Given the description of an element on the screen output the (x, y) to click on. 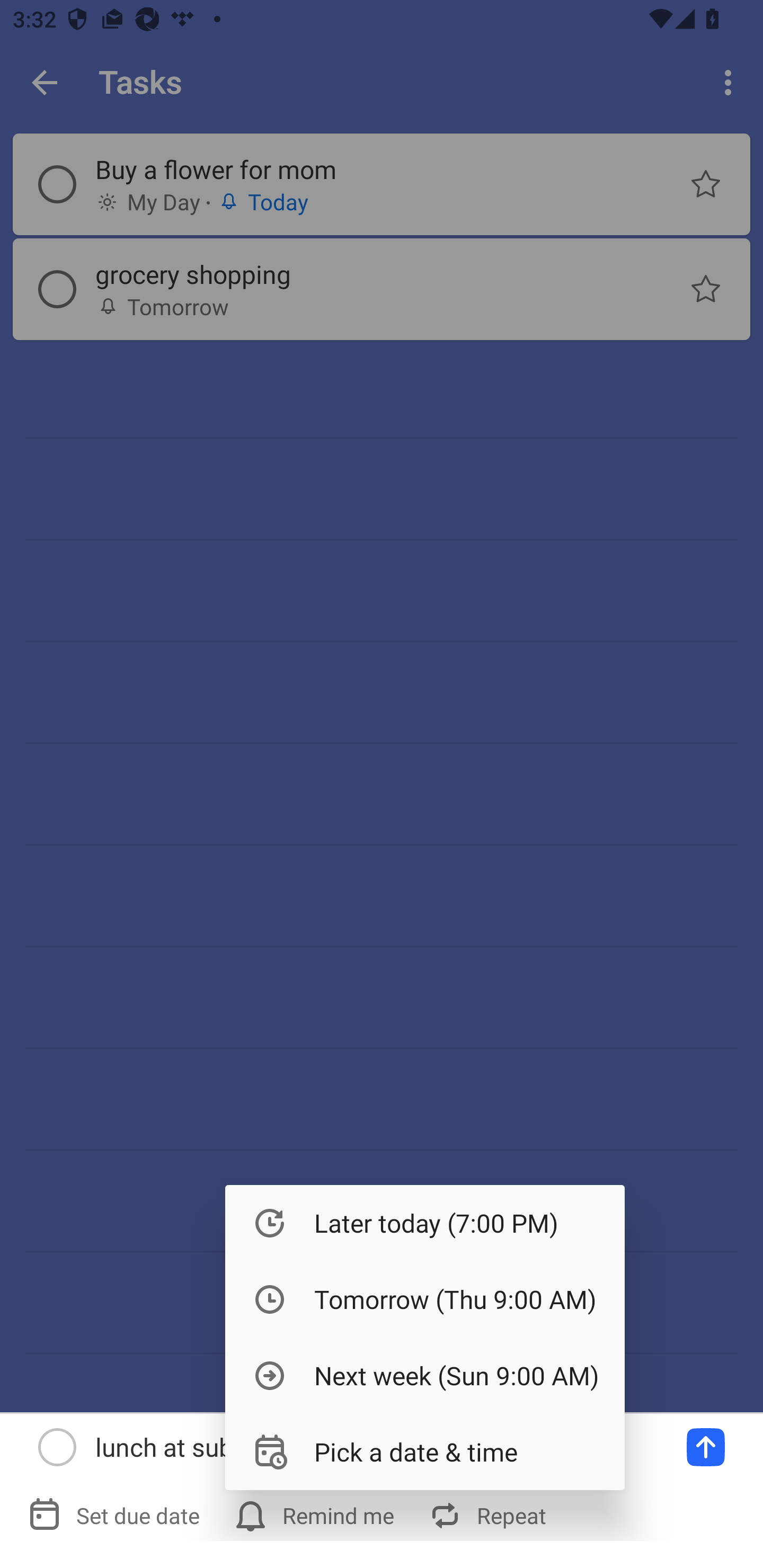
Pick a date & time4 in 4 Pick a date & time (424, 1451)
